Given the description of an element on the screen output the (x, y) to click on. 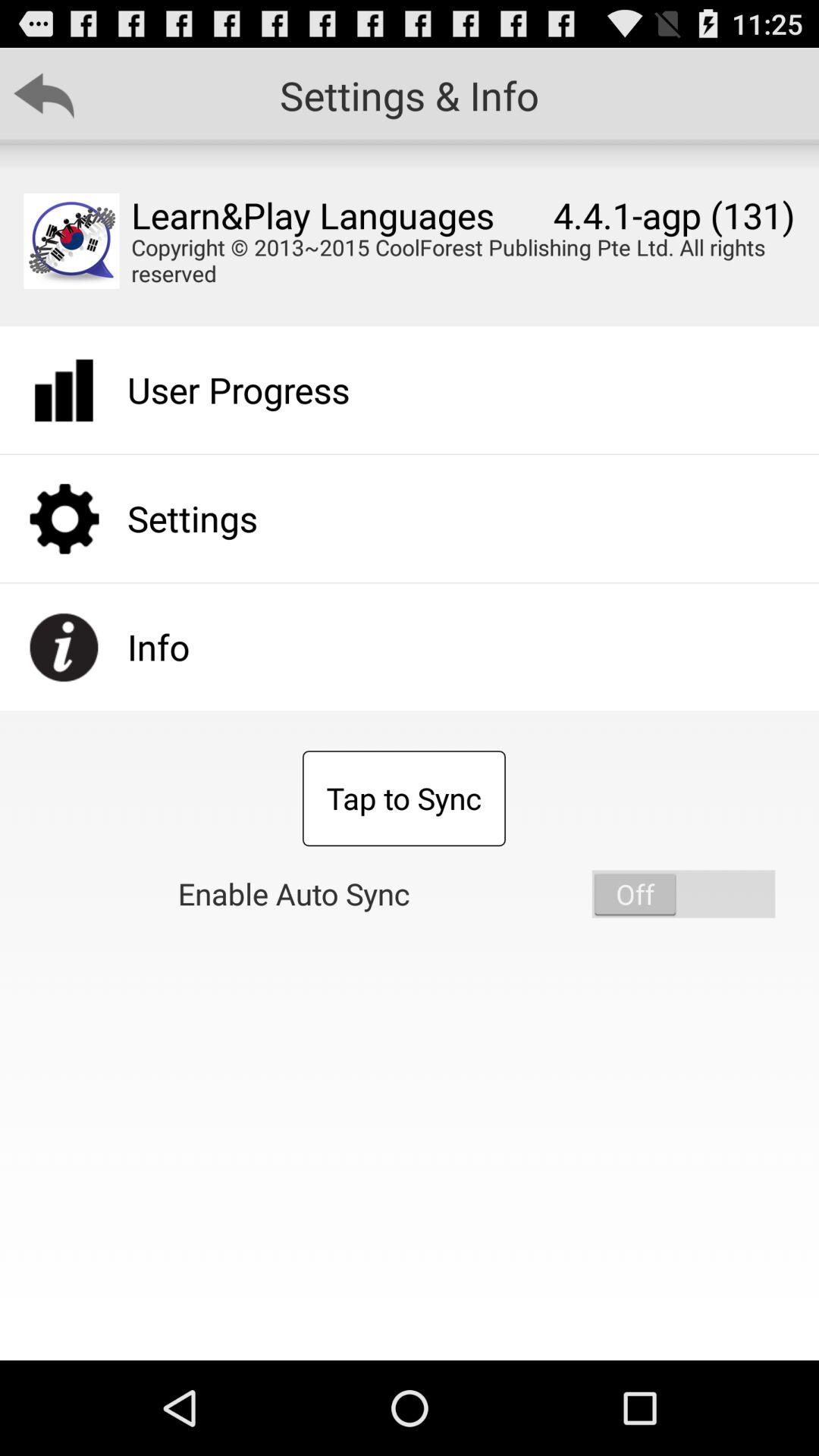
open the app below user progress app (403, 798)
